Given the description of an element on the screen output the (x, y) to click on. 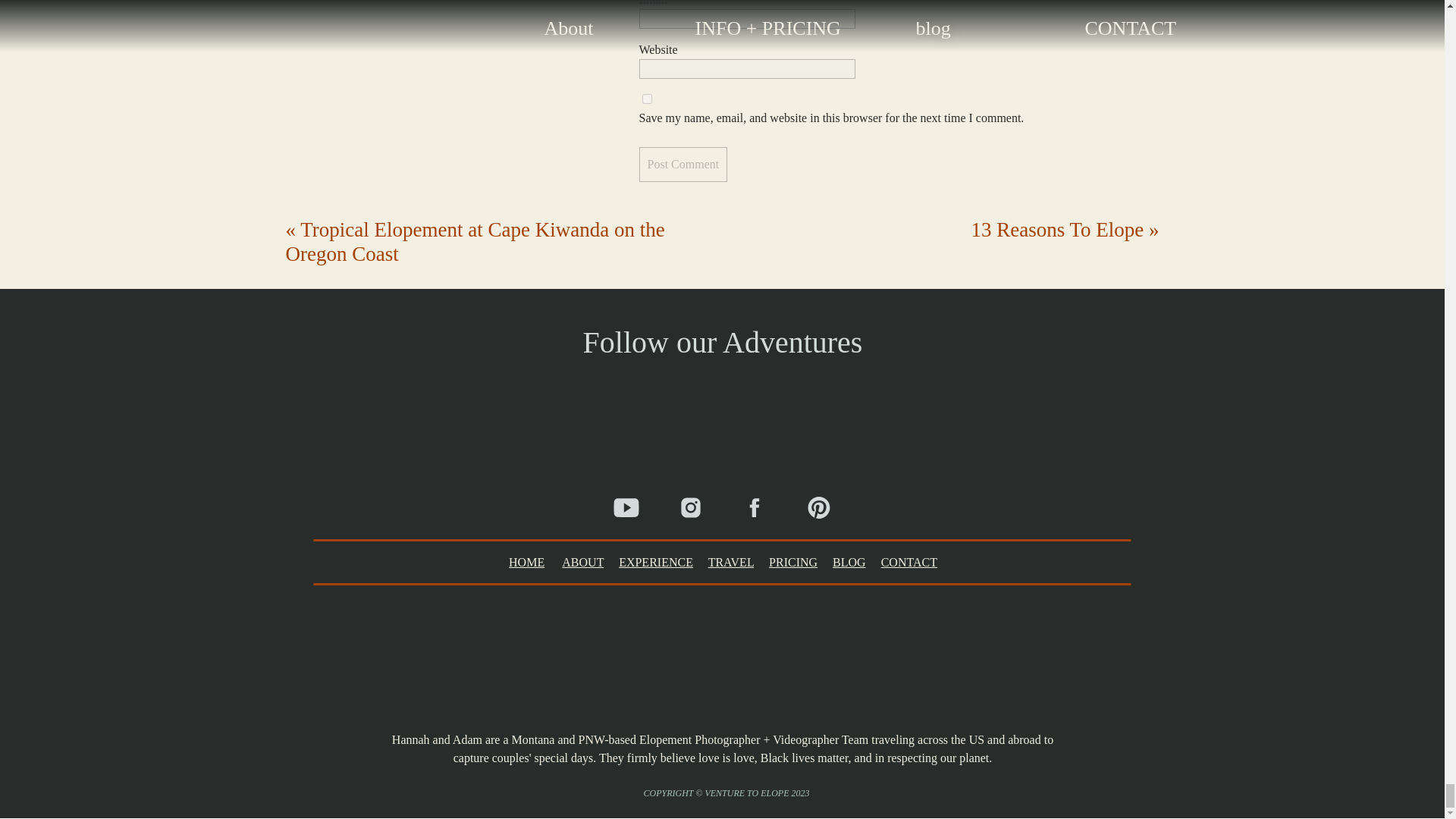
yes (646, 99)
Post Comment (682, 164)
